Given the description of an element on the screen output the (x, y) to click on. 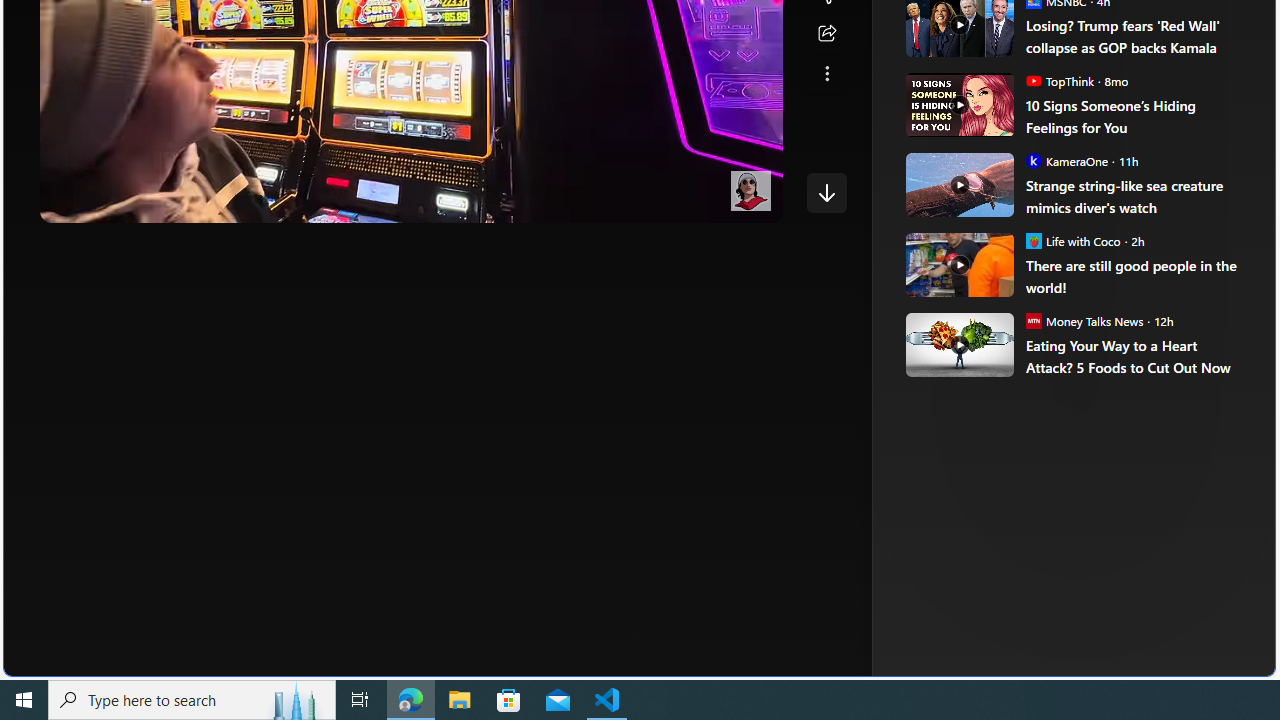
TopThink (1033, 80)
Strange string-like sea creature mimics diver's watch (958, 183)
Full screen (f) (750, 202)
Money Talks News Money Talks News (1084, 320)
Unmute (m) (118, 202)
There are still good people in the world! (1136, 276)
There are still good people in the world! (958, 263)
Life with Coco Life with Coco (1073, 240)
Life with Coco (1033, 240)
